Given the description of an element on the screen output the (x, y) to click on. 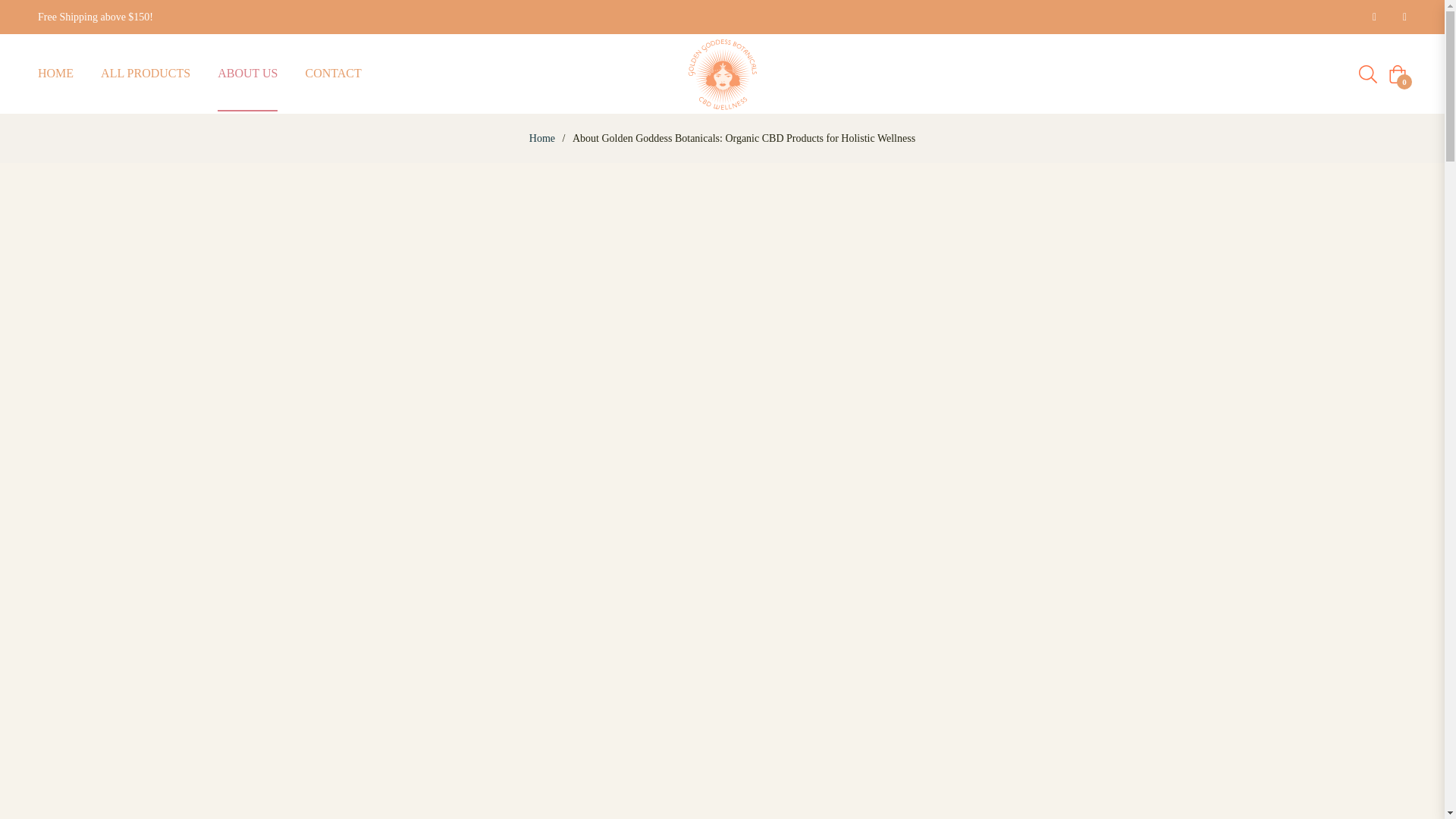
Shopping Cart (1397, 74)
GoldenGoddessBotanicals on Facebook (1369, 16)
GoldenGoddessBotanicals on Instagram (1400, 16)
Home (542, 138)
ALL PRODUCTS (145, 73)
Home (542, 138)
CONTACT (332, 73)
ABOUT US (247, 73)
